Given the description of an element on the screen output the (x, y) to click on. 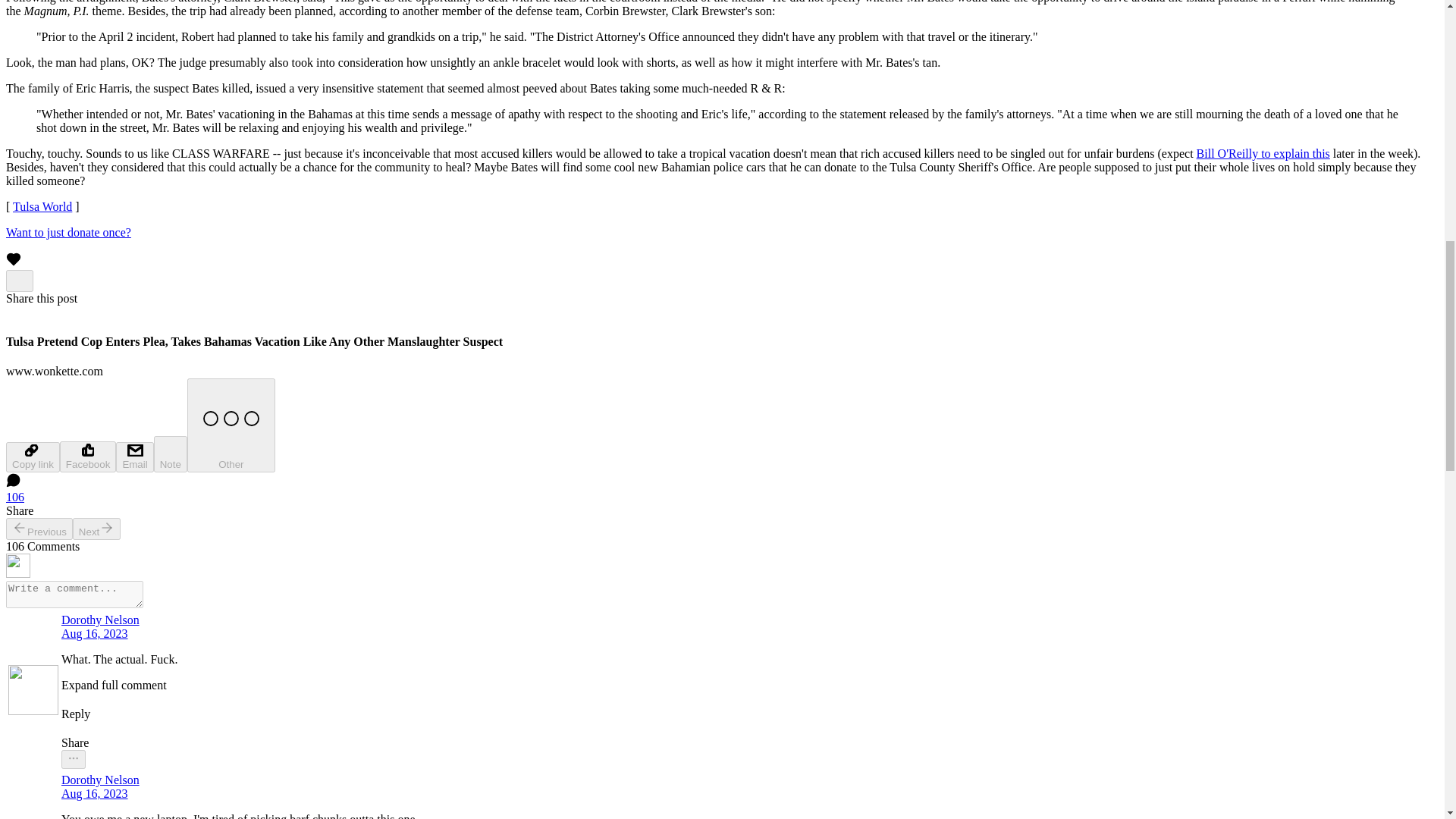
Email (134, 457)
Want to just donate once? (68, 232)
Bill O'Reilly to explain this (1263, 153)
Other (231, 425)
Tulsa World (42, 205)
Facebook (87, 456)
Next (96, 528)
Previous (38, 528)
Copy link (32, 457)
Note (170, 453)
